Given the description of an element on the screen output the (x, y) to click on. 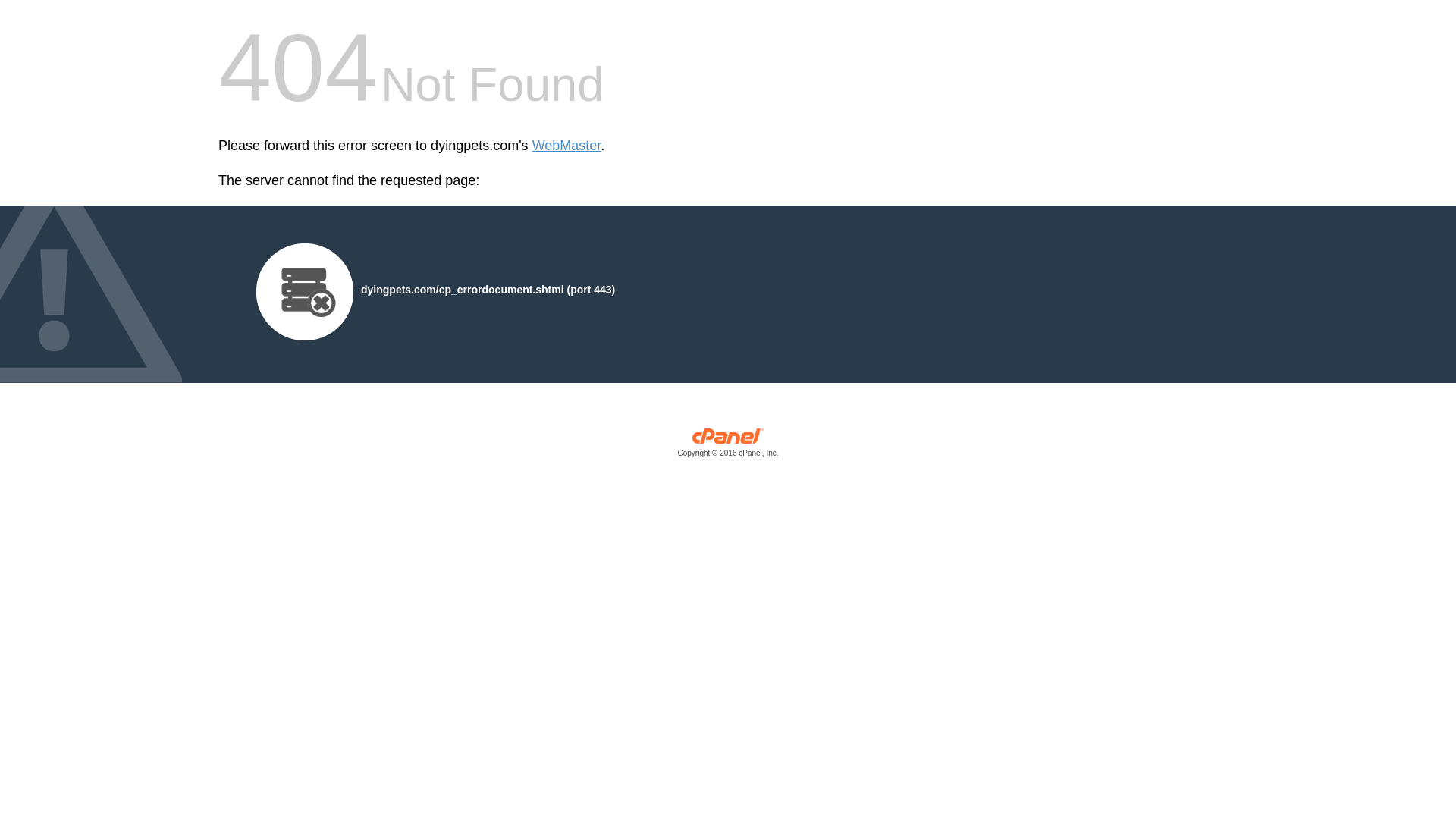
cPanel, Inc. (727, 446)
WebMaster (566, 145)
